Given the description of an element on the screen output the (x, y) to click on. 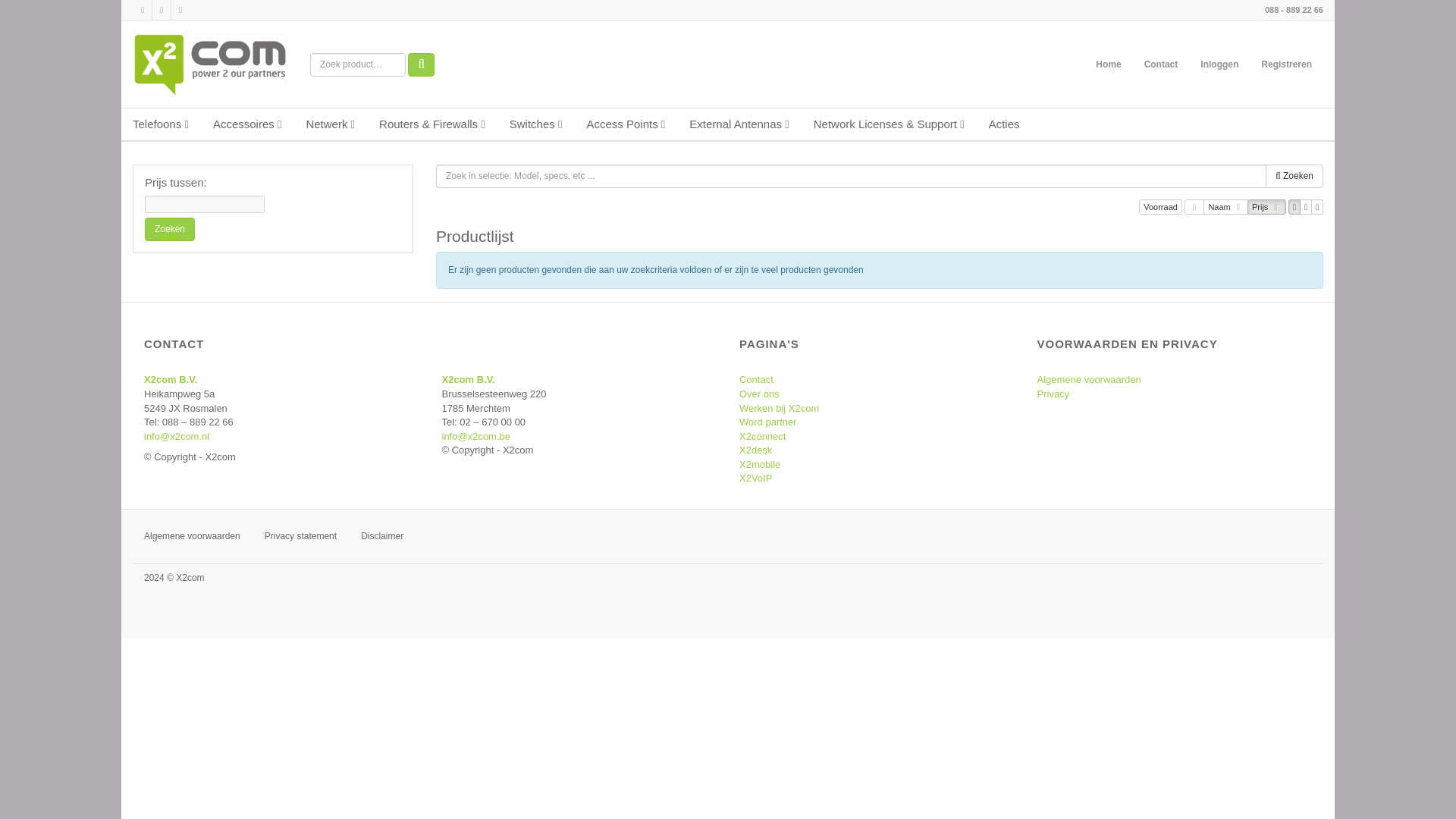
on (1309, 208)
Facebook (180, 10)
Twitter (142, 10)
on (1212, 208)
Accessoires (248, 123)
Linkedin (161, 10)
Telefoons (160, 123)
X2com (209, 64)
on (1297, 208)
on (1257, 208)
on (1193, 208)
on (1320, 208)
Netwerk (330, 123)
